Given the description of an element on the screen output the (x, y) to click on. 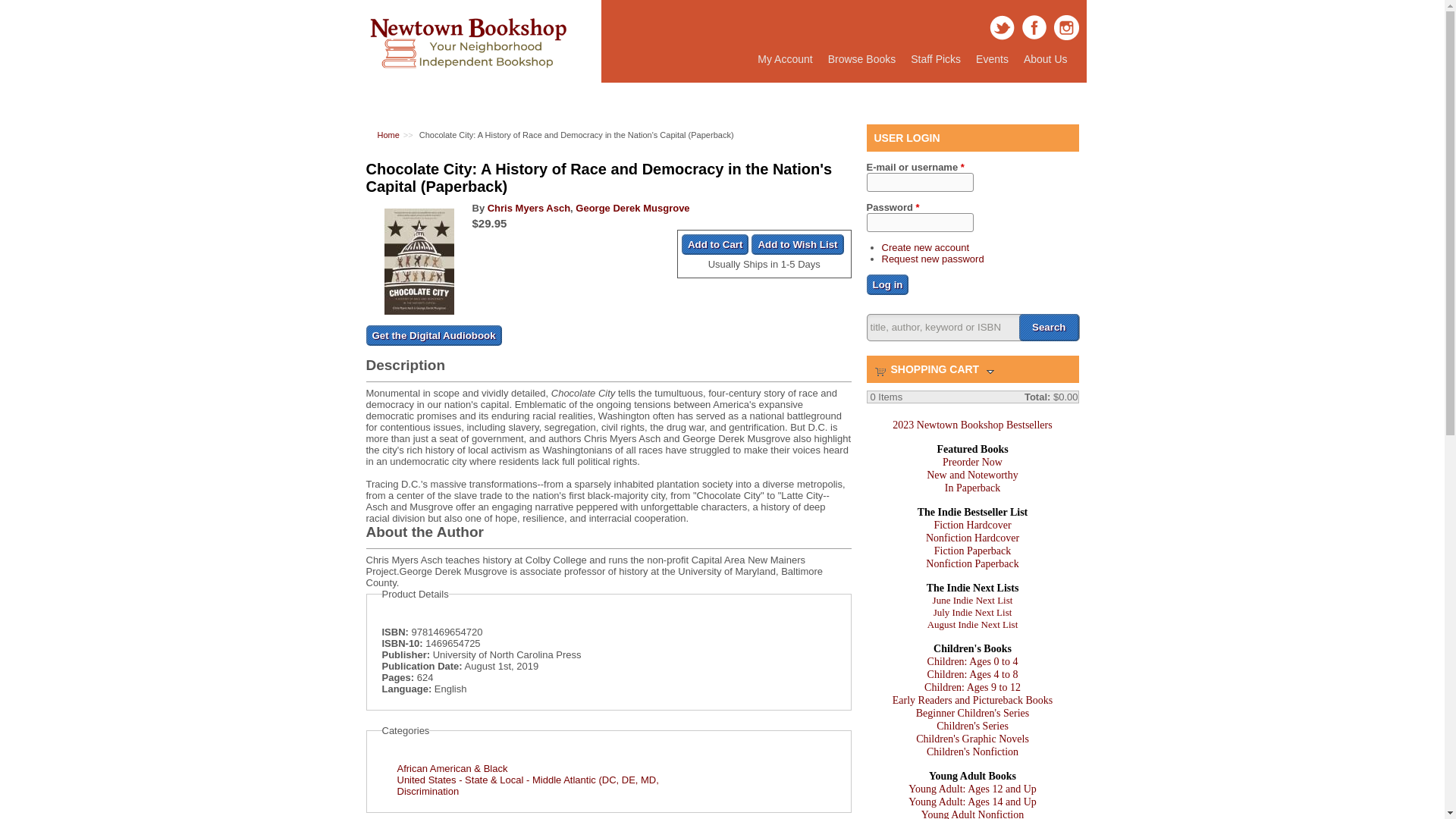
2023 Newtown Bookshop Bestsellers (971, 424)
Events (992, 58)
Search (935, 58)
Fiction Hardcover (1048, 327)
Chris Myers Asch (971, 524)
Children: Ages 0 to 4 (528, 207)
My Account (972, 661)
Request new password via e-mail. (784, 58)
Get the Digital Audiobook (932, 258)
Staff Picks (432, 335)
Add to Cart (935, 58)
August Indie Next List (715, 244)
Home (972, 624)
Add to Cart (467, 76)
